Given the description of an element on the screen output the (x, y) to click on. 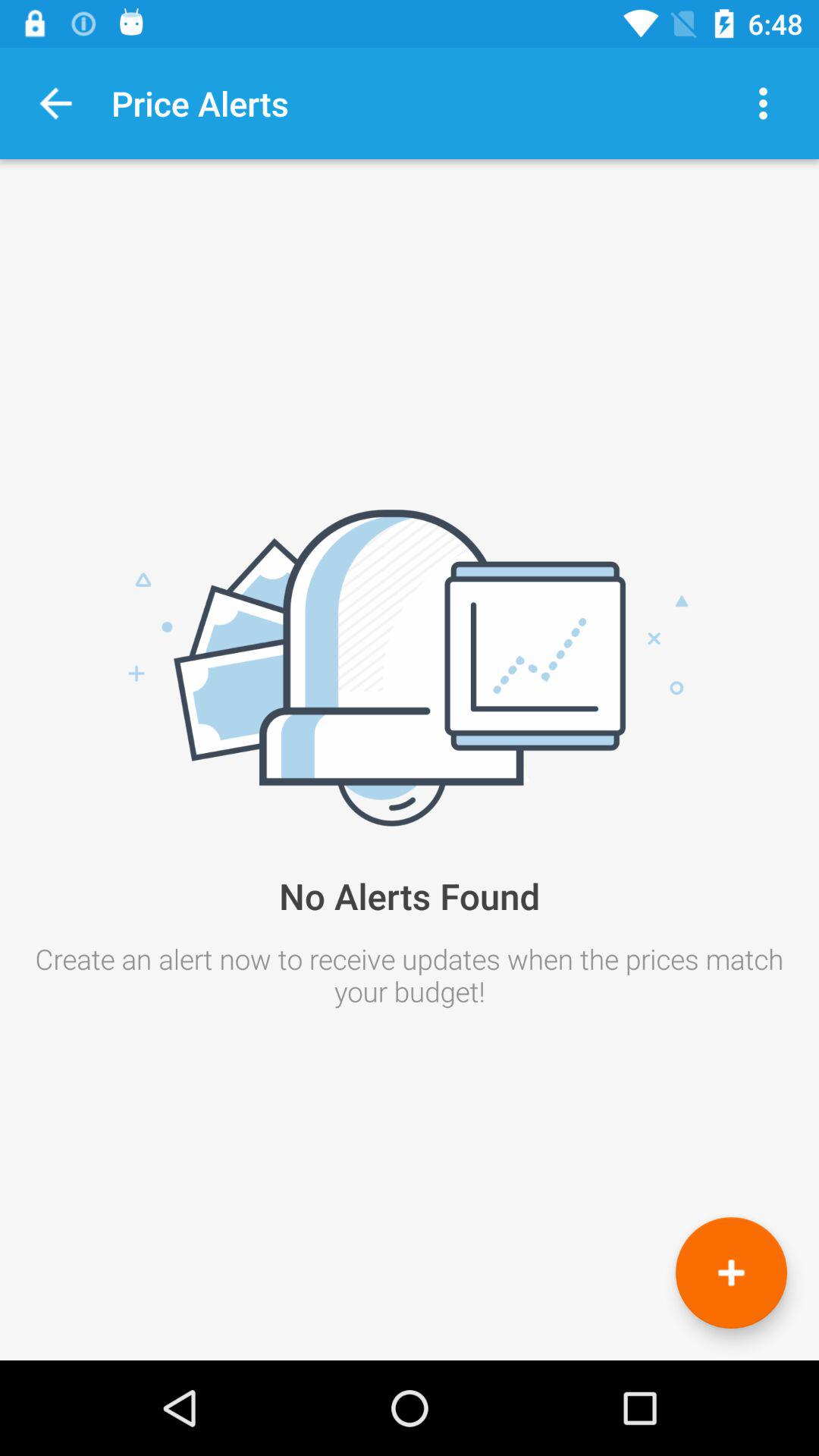
turn on the icon at the top right corner (763, 103)
